Given the description of an element on the screen output the (x, y) to click on. 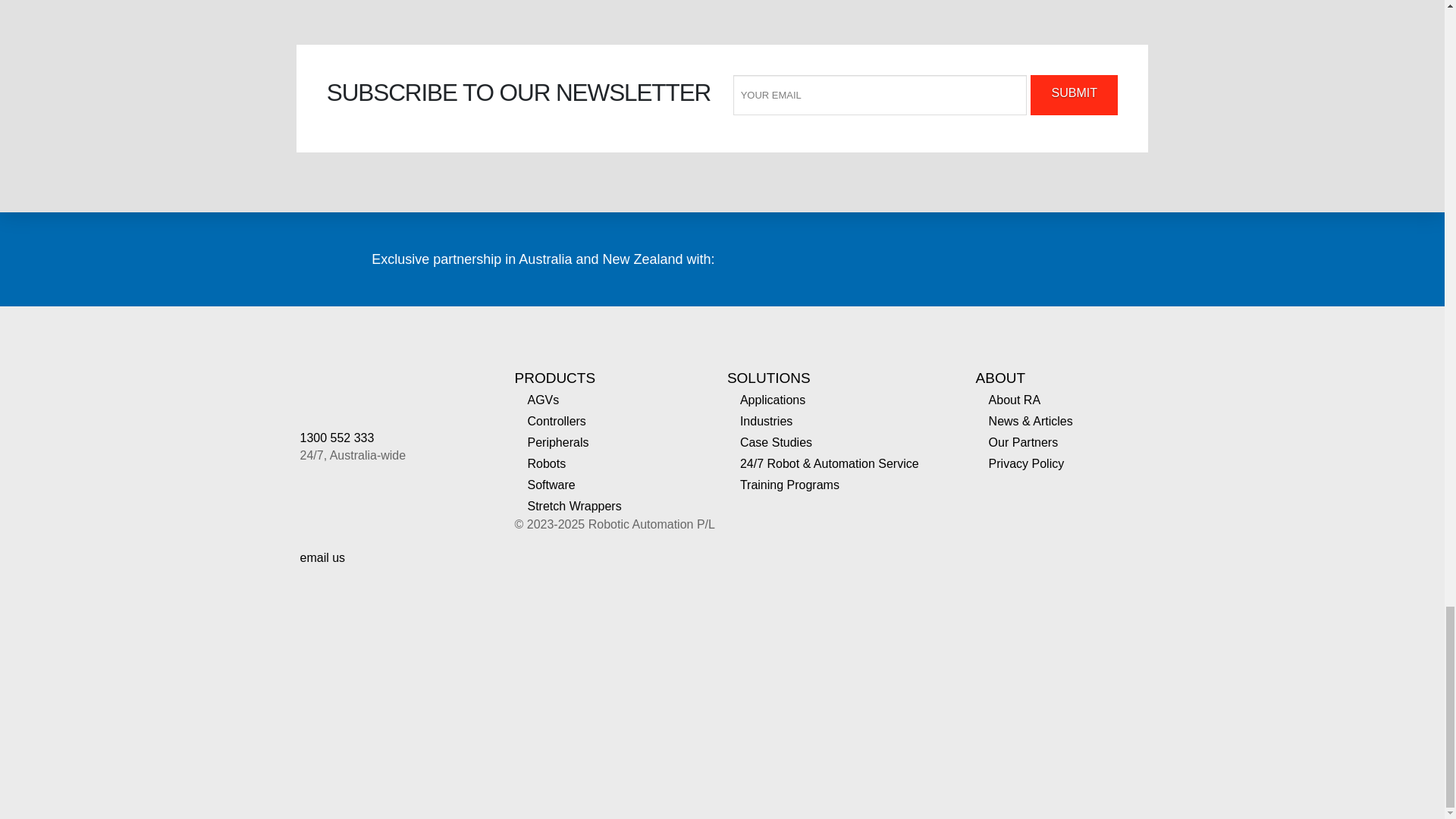
SUBMIT (1074, 95)
PRODUCTS (554, 377)
Peripherals (557, 441)
SUBMIT (1074, 95)
AGVs (542, 399)
email us (322, 557)
Controllers (555, 420)
1300 552 333 (336, 437)
